Given the description of an element on the screen output the (x, y) to click on. 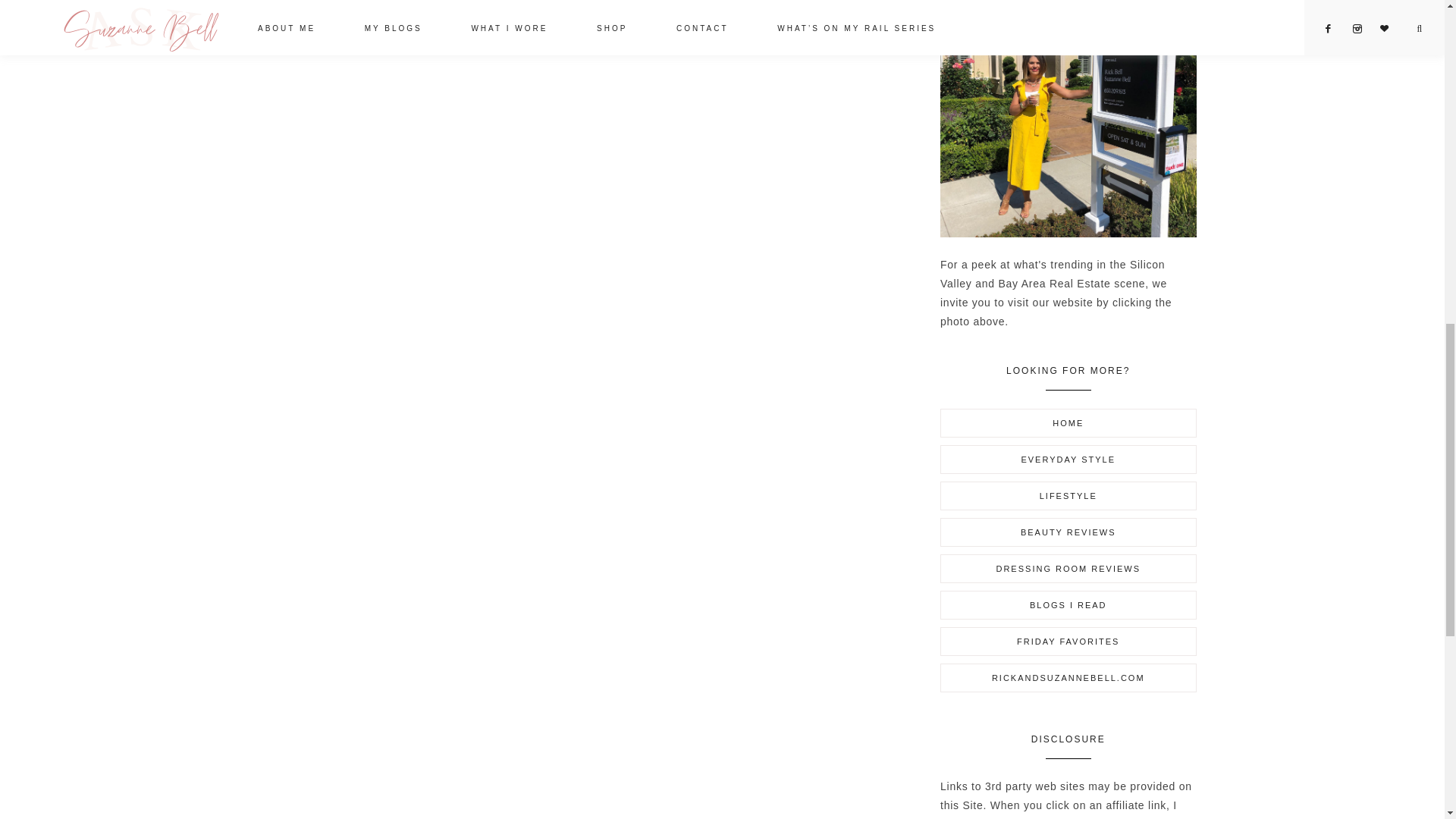
RickandSuzanneBell.com COMPASS Los Altos (1068, 118)
